Given the description of an element on the screen output the (x, y) to click on. 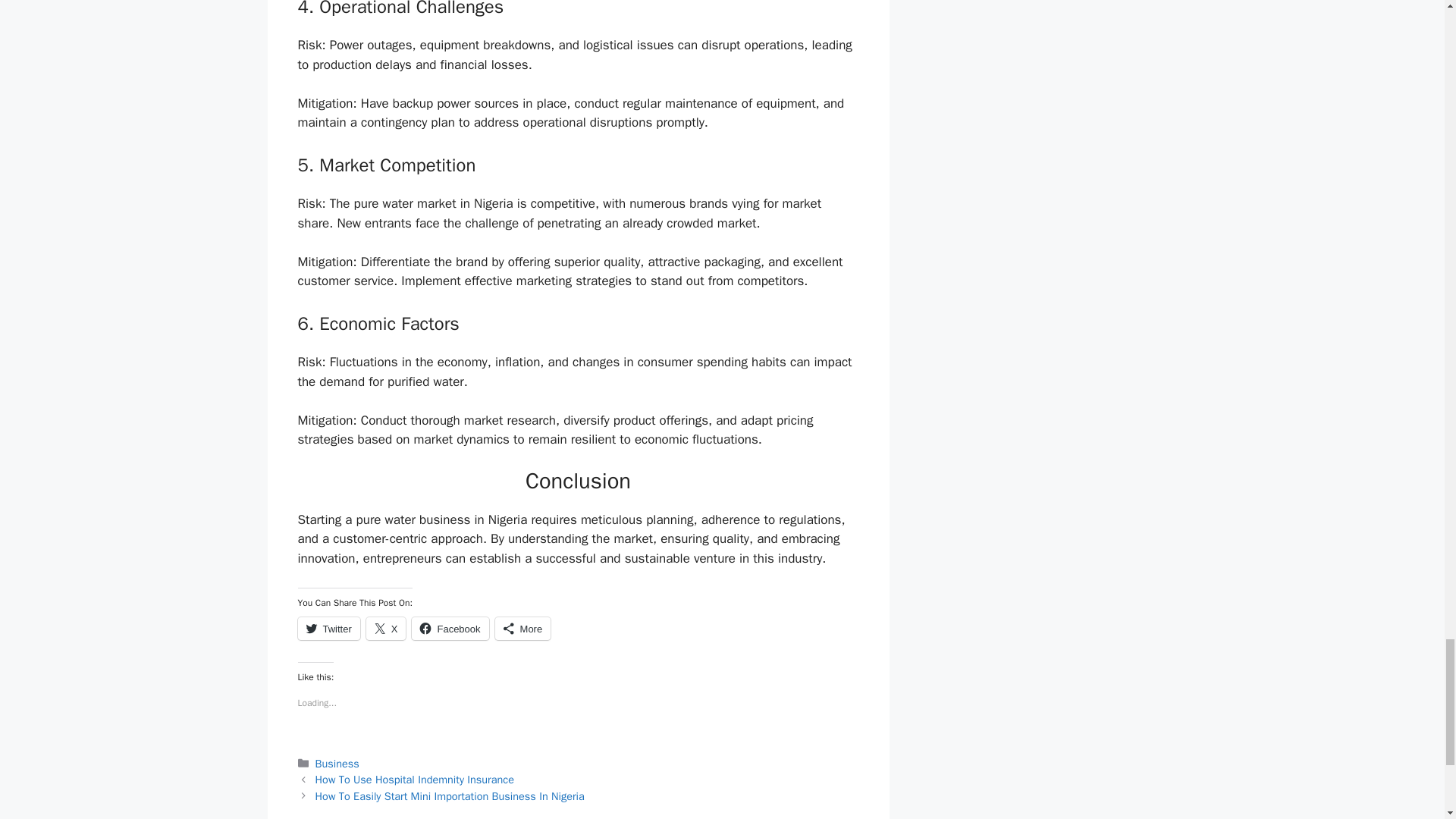
Click to share on Facebook (449, 628)
Twitter (328, 628)
How To Use Hospital Indemnity Insurance (414, 779)
X (386, 628)
Click to share on Twitter (328, 628)
Click to share on X (386, 628)
Facebook (449, 628)
How To Easily Start Mini Importation Business In Nigeria (450, 796)
Business (337, 763)
More (523, 628)
